Given the description of an element on the screen output the (x, y) to click on. 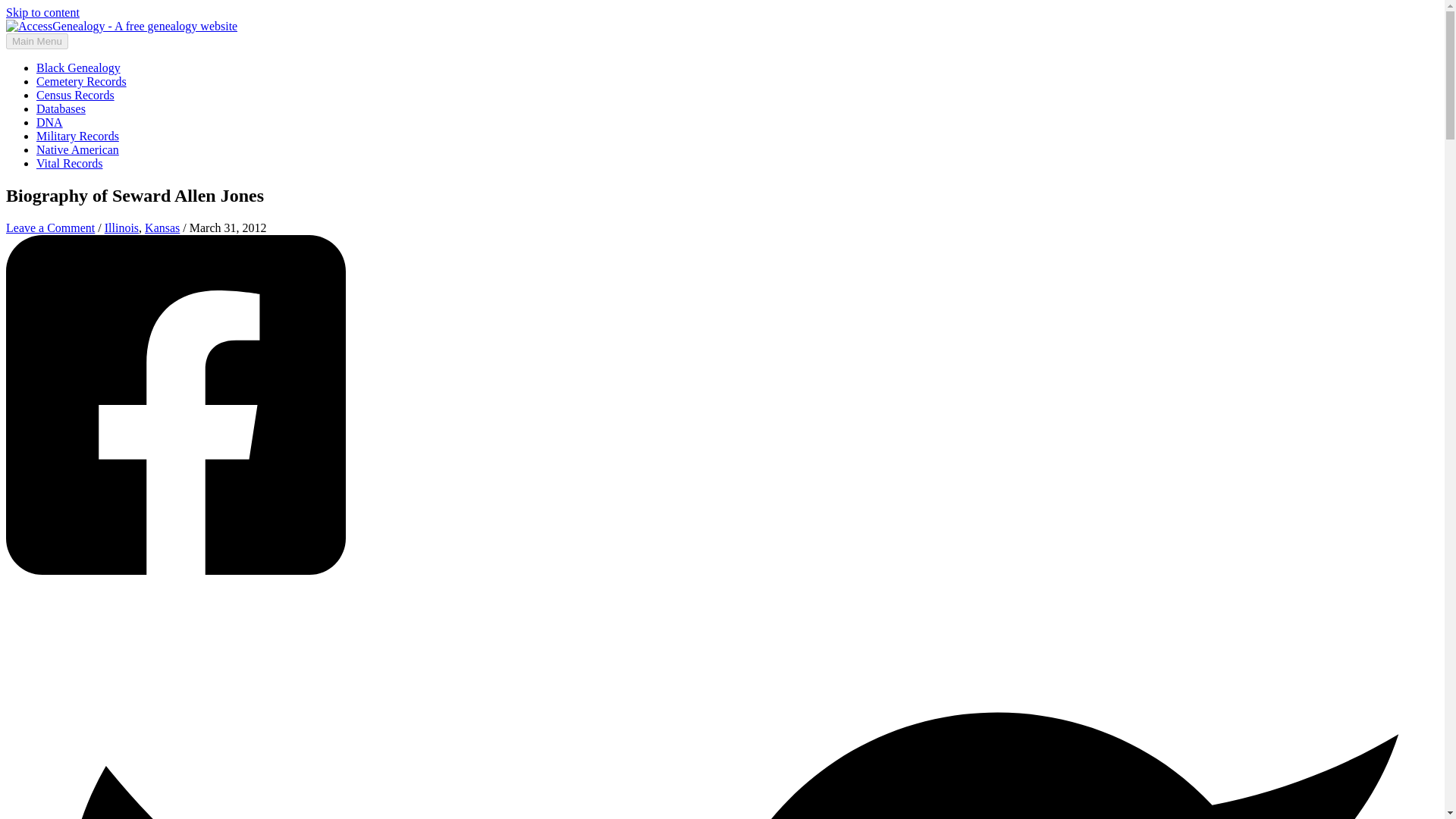
Leave a Comment (49, 227)
DNA (49, 122)
Genealogy Databases (60, 108)
Cemetery Records (81, 81)
Vital Records (68, 163)
Main Menu (36, 41)
United States Vital Records (68, 163)
Databases (60, 108)
Kansas (161, 227)
Census Records (75, 94)
Skip to content (42, 11)
DNA (49, 122)
Skip to content (42, 11)
Military Records (77, 135)
Native American (77, 149)
